Given the description of an element on the screen output the (x, y) to click on. 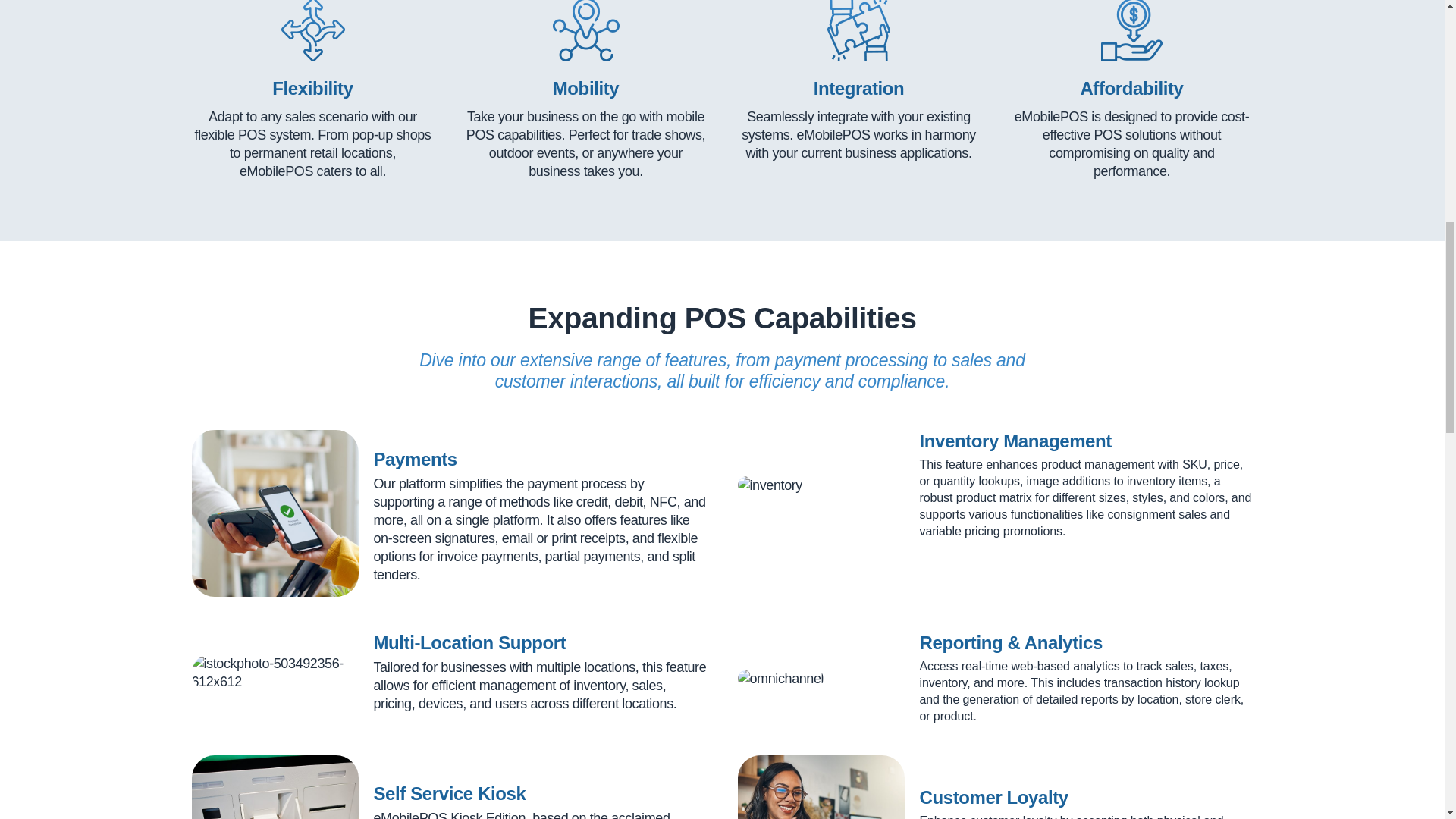
omnichannel (780, 678)
inventory (769, 484)
customer-loyalty (820, 787)
